Given the description of an element on the screen output the (x, y) to click on. 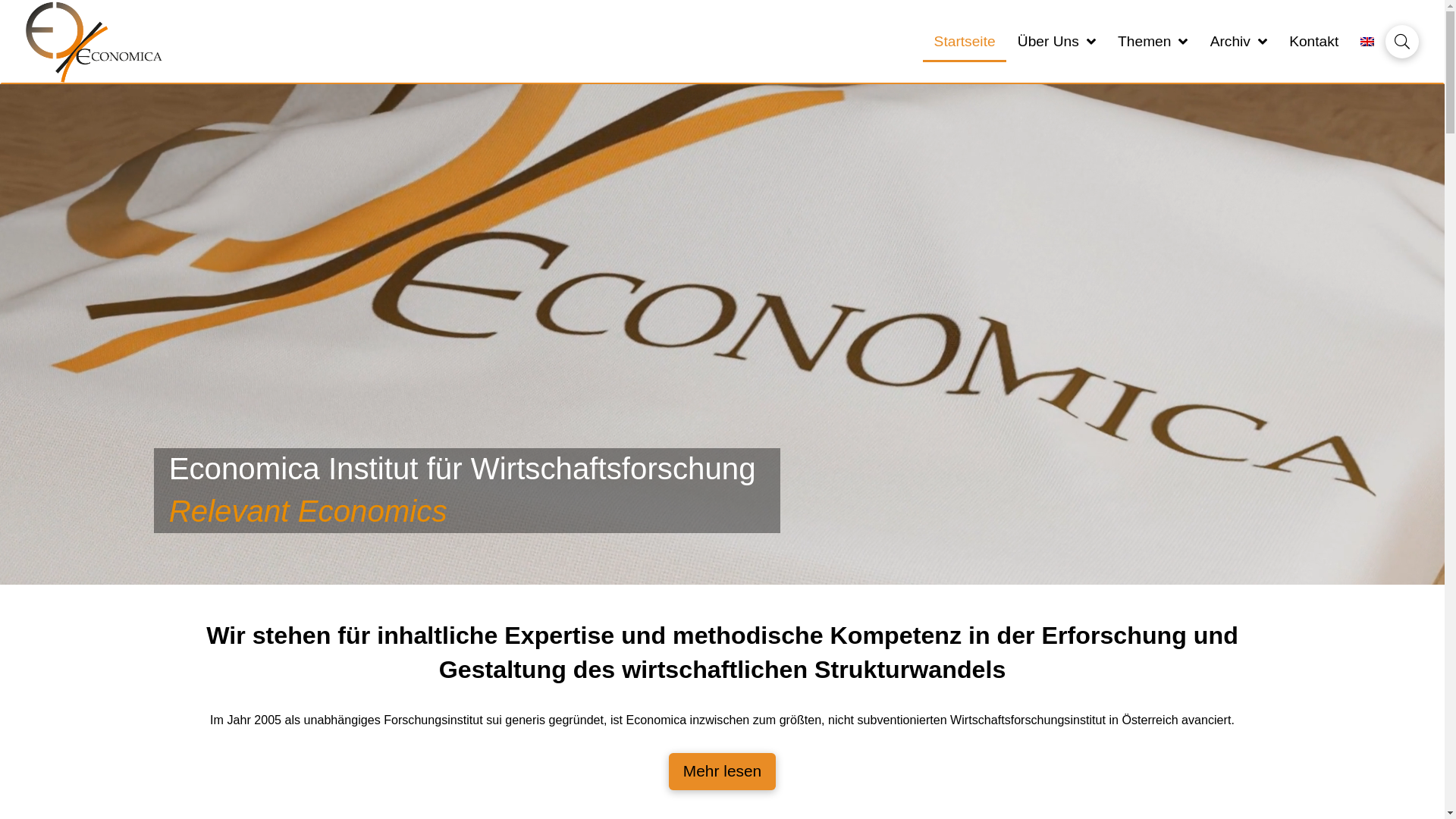
Archiv Element type: text (1238, 41)
Themen Element type: text (1152, 41)
Mehr lesen Element type: text (721, 771)
Startseite Element type: text (964, 41)
Kontakt Element type: text (1313, 41)
